Given the description of an element on the screen output the (x, y) to click on. 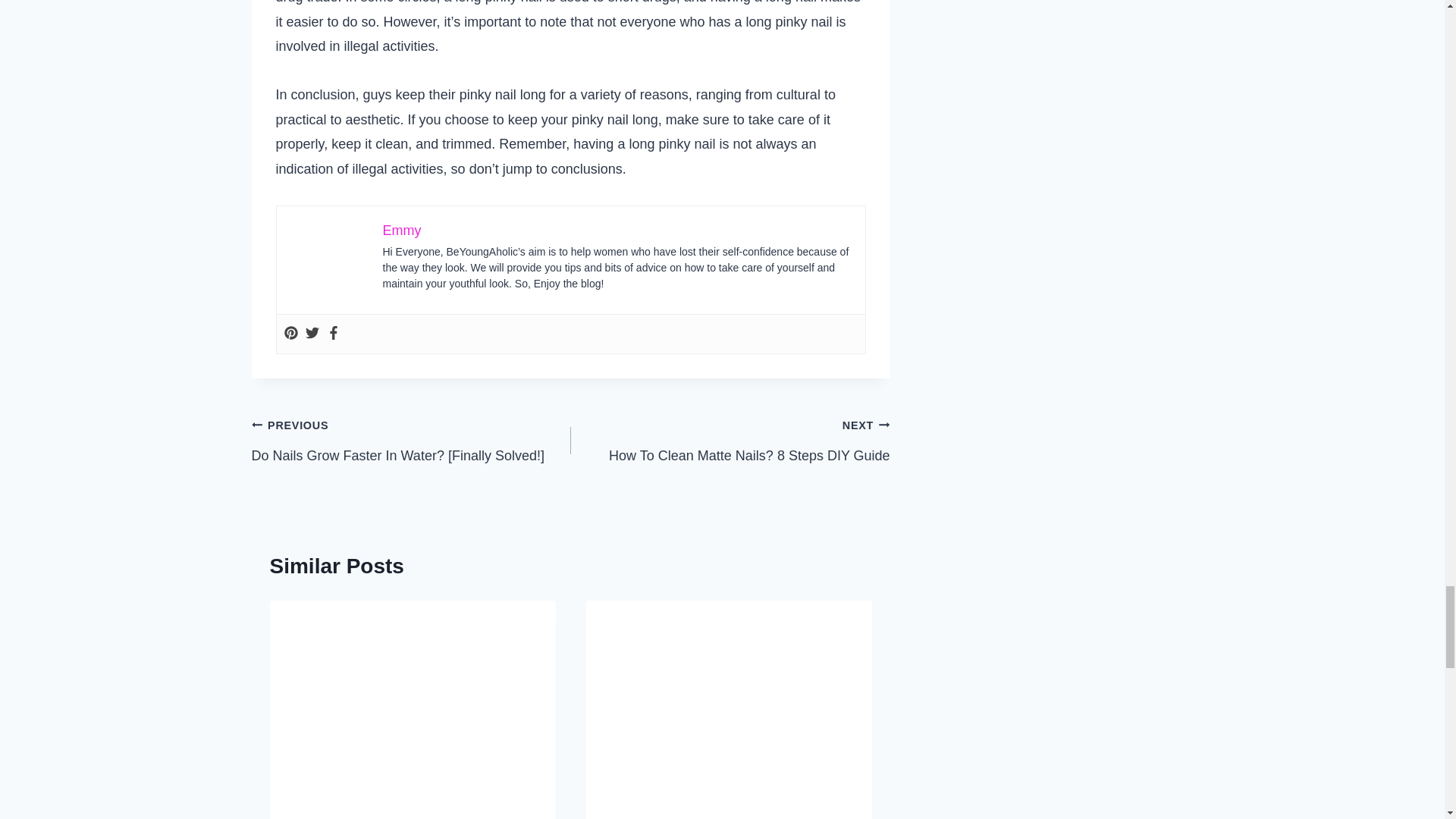
Twitter (311, 333)
Pinterest (290, 333)
Facebook (332, 333)
Can You Use Regular Conditioner As A Leave-In? Truth Here! (729, 440)
